Given the description of an element on the screen output the (x, y) to click on. 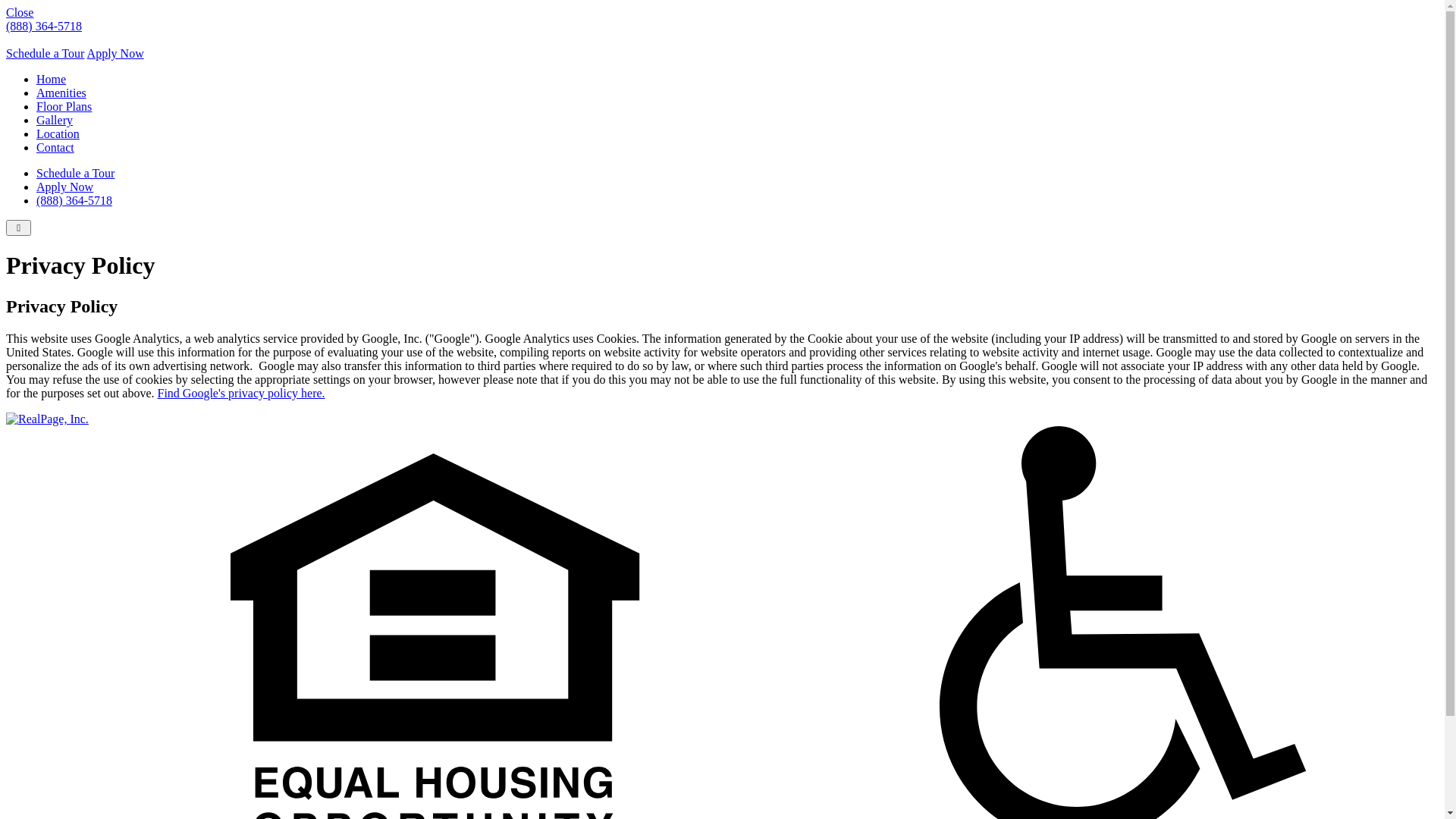
Amenities Element type: text (61, 92)
Apply Now Element type: text (64, 186)
Find Google's privacy policy here. Element type: text (241, 392)
(888) 364-5718 Element type: text (43, 25)
Contact Element type: text (55, 147)
Schedule a Tour Element type: text (75, 172)
Open Menu Element type: hover (18, 227)
Floor Plans Element type: text (63, 106)
Close Element type: text (19, 12)
Schedule a Tour Element type: text (45, 53)
Location Element type: text (57, 133)
Apply Now Element type: text (115, 53)
Gallery Element type: text (54, 119)
(888) 364-5718 Element type: text (74, 200)
Home Element type: text (50, 78)
